Given the description of an element on the screen output the (x, y) to click on. 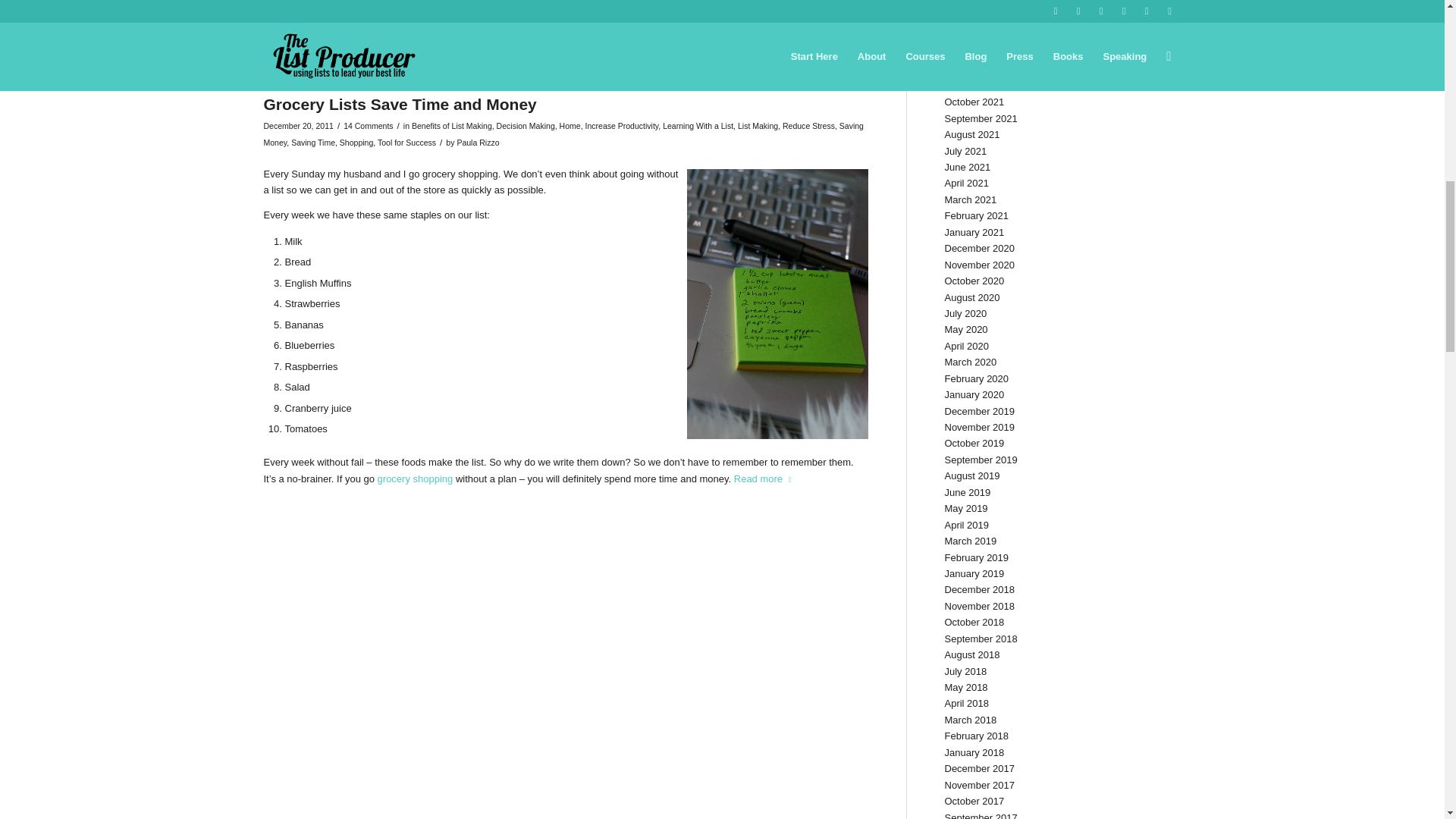
Grocery Lists Save Time and Money (400, 104)
Benefits of List Making (452, 125)
14 Comments (368, 125)
